Given the description of an element on the screen output the (x, y) to click on. 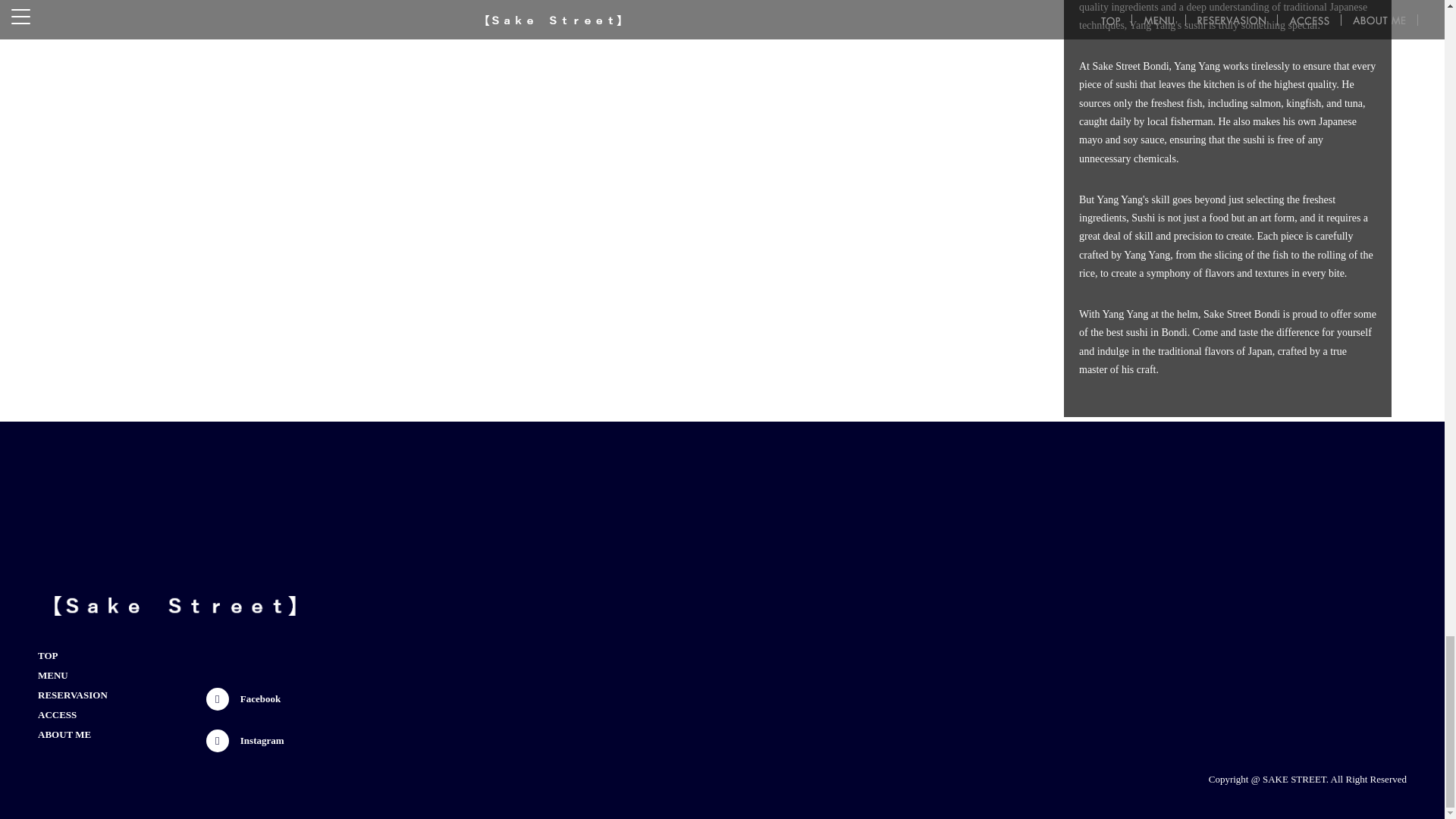
Facebook (244, 698)
RESERVASION (72, 695)
TOP (47, 655)
ACCESS (57, 714)
ABOUT ME (63, 734)
Instagram (244, 740)
MENU (52, 675)
